Given the description of an element on the screen output the (x, y) to click on. 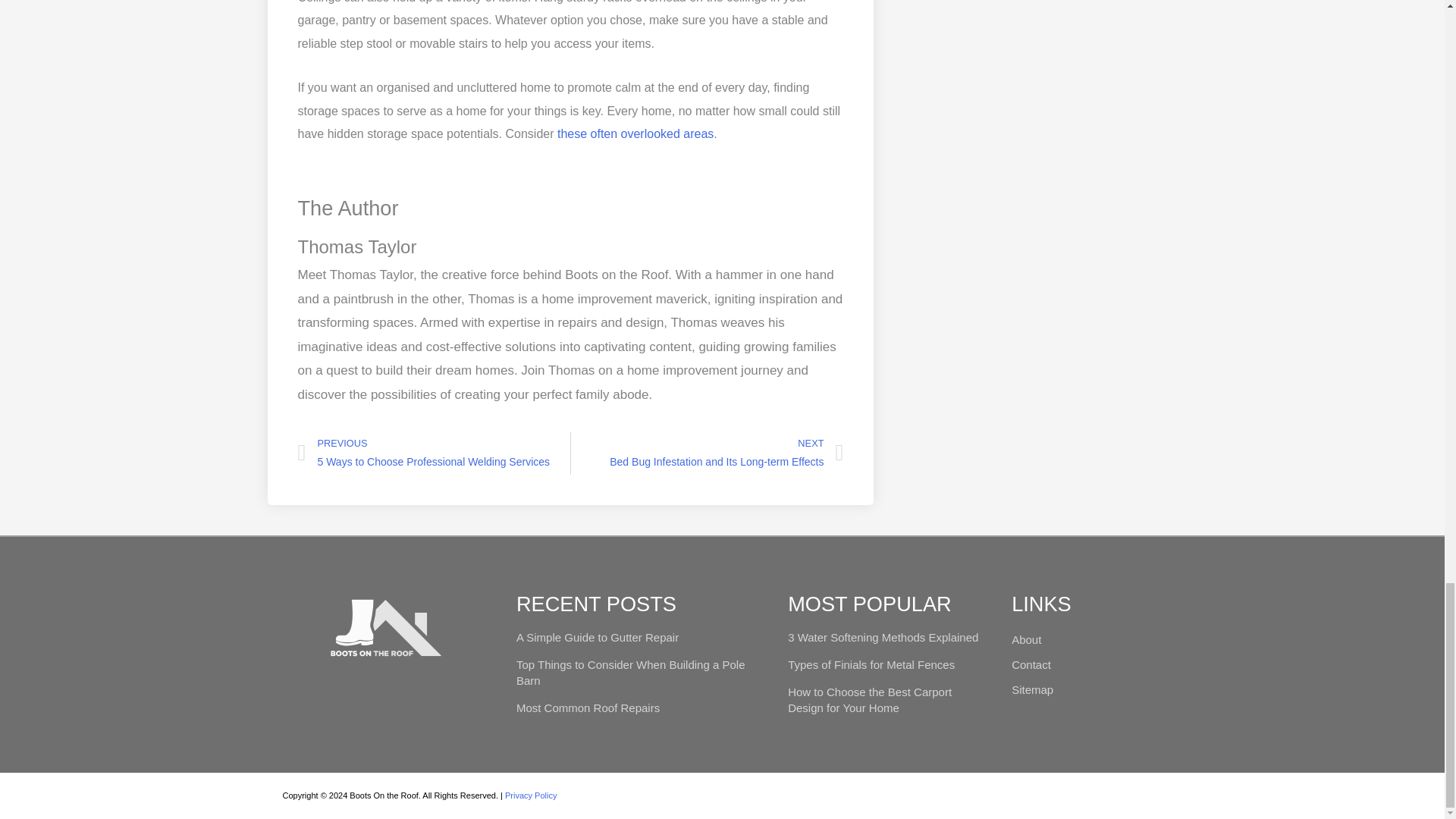
Better Homes and Gardens (635, 133)
these often overlooked areas (706, 453)
